Given the description of an element on the screen output the (x, y) to click on. 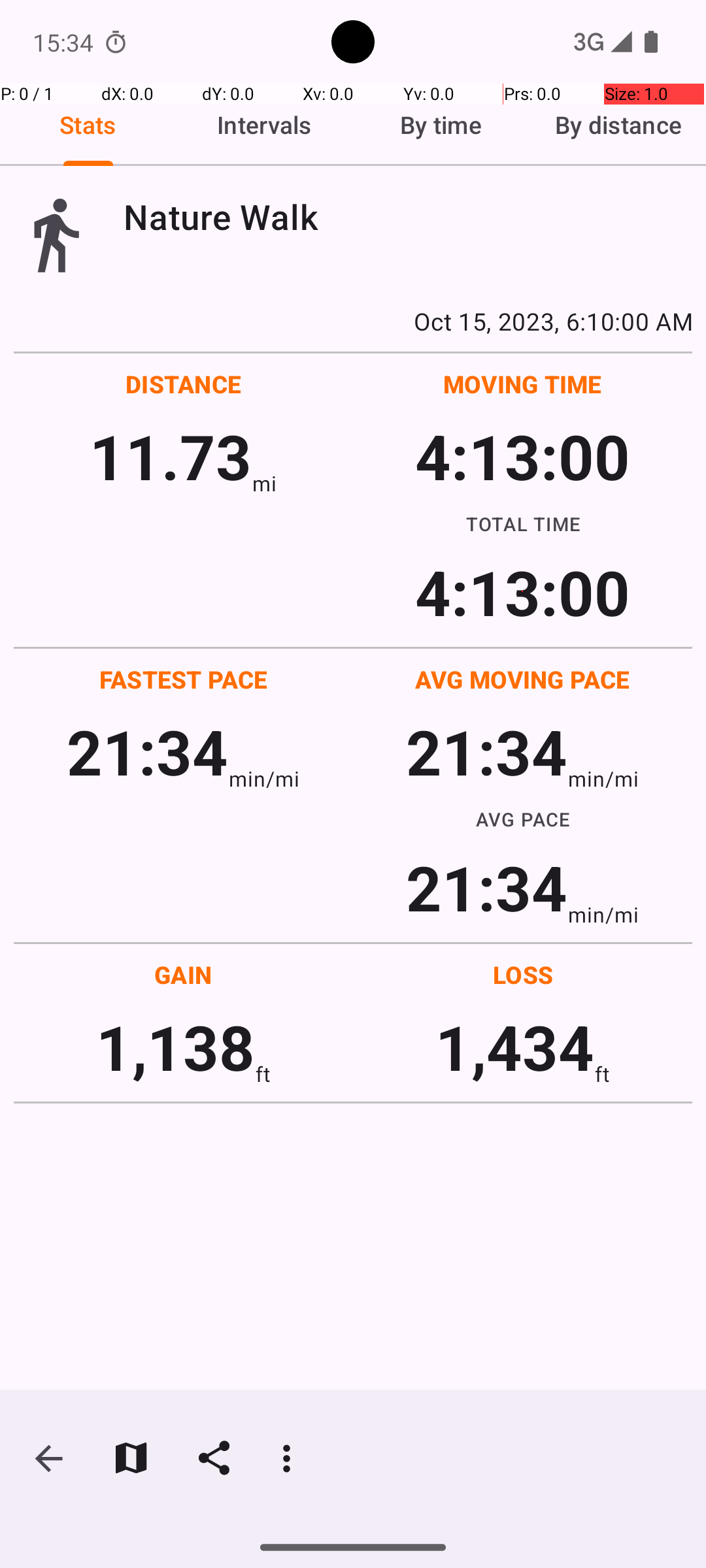
Nature Walk Element type: android.widget.TextView (407, 216)
Oct 15, 2023, 6:10:00 AM Element type: android.widget.TextView (352, 320)
11.73 Element type: android.widget.TextView (170, 455)
4:13:00 Element type: android.widget.TextView (522, 455)
21:34 Element type: android.widget.TextView (147, 750)
1,138 Element type: android.widget.TextView (175, 1045)
1,434 Element type: android.widget.TextView (514, 1045)
